Given the description of an element on the screen output the (x, y) to click on. 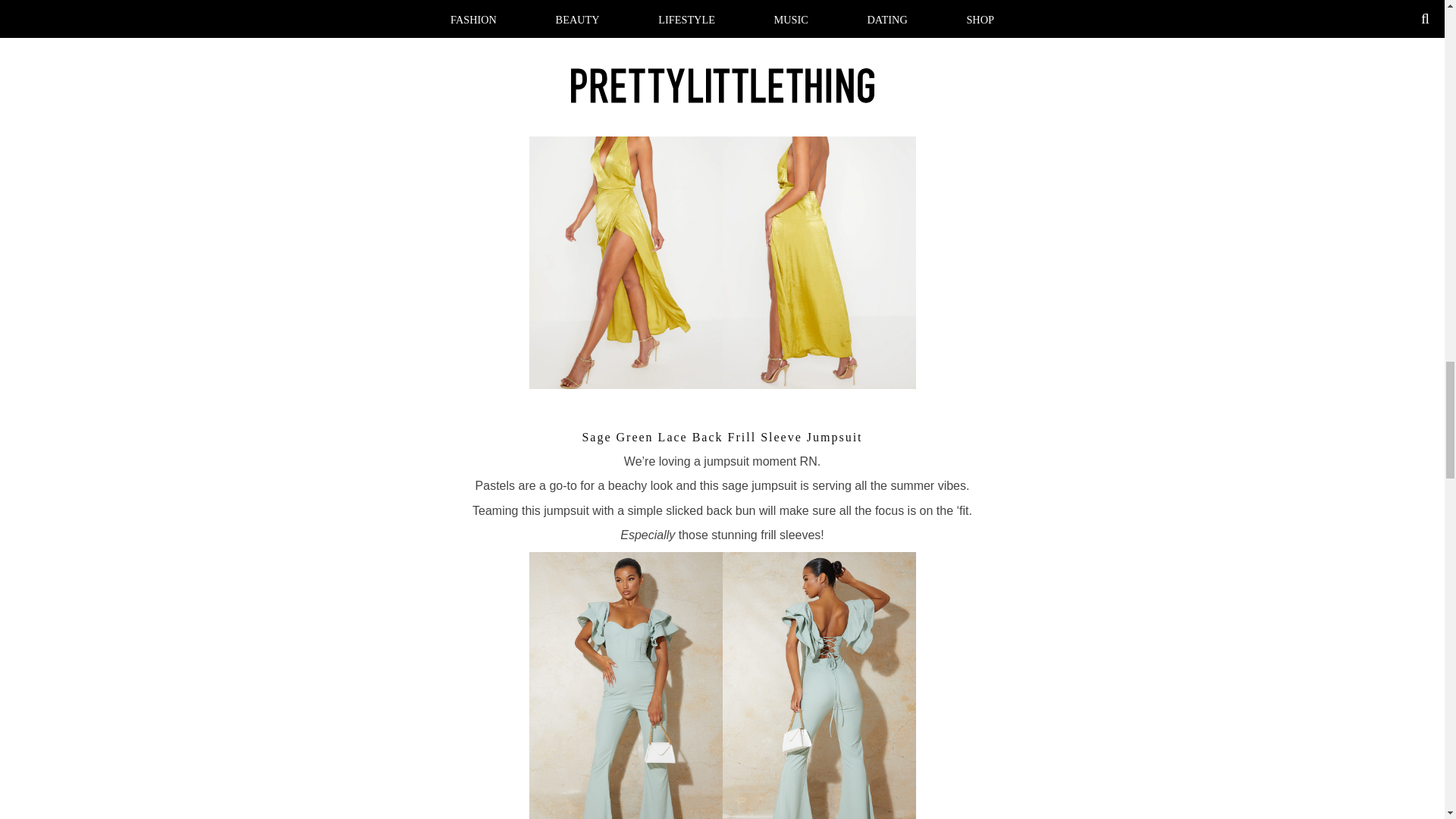
Sage Green Lace Back Frill Sleeve Jumpsuit (720, 437)
